Given the description of an element on the screen output the (x, y) to click on. 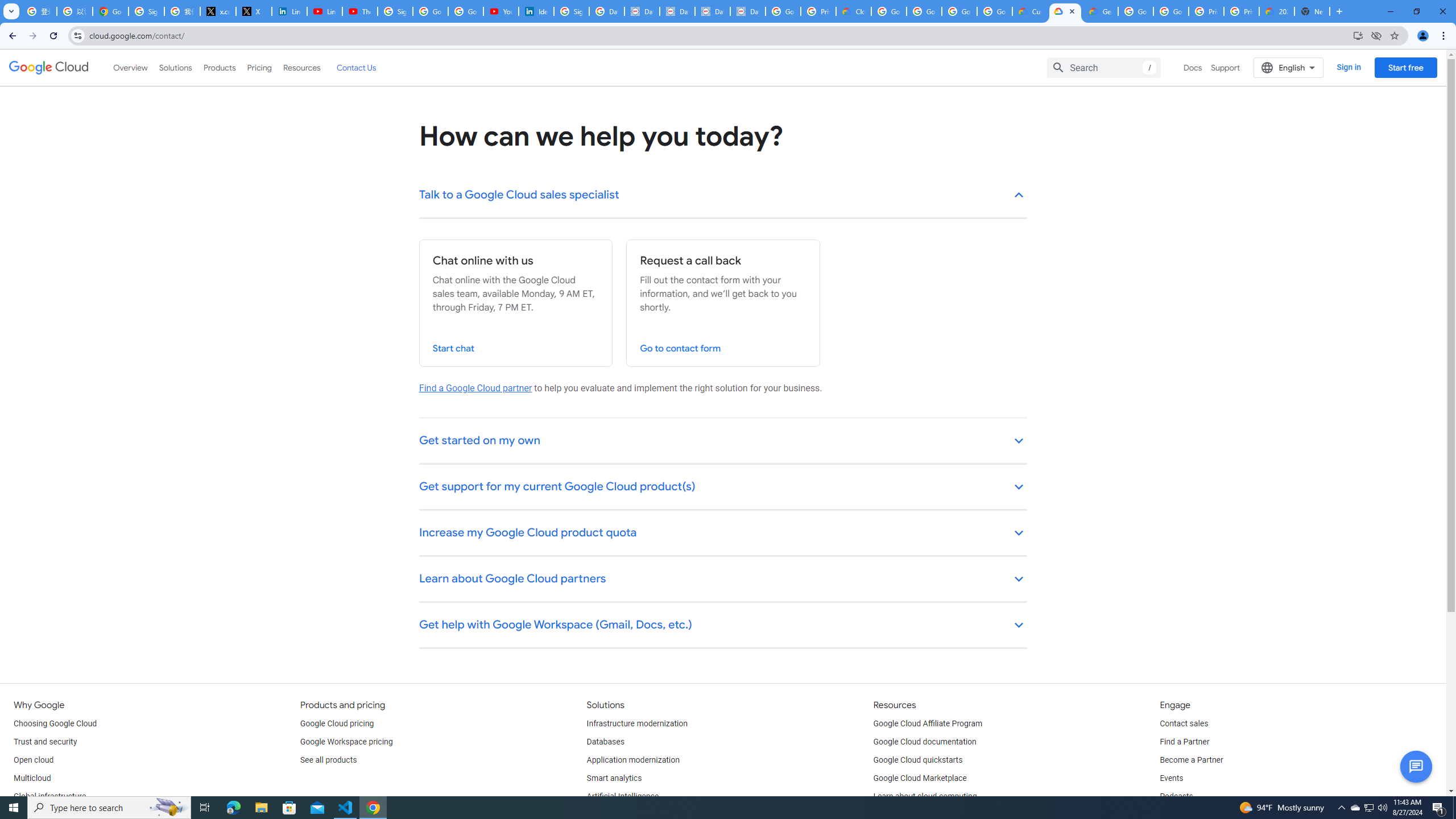
Cloud Data Processing Addendum | Google Cloud (853, 11)
Trust and security (45, 742)
Open cloud (33, 760)
Find a Google Cloud partner (475, 387)
Resources (301, 67)
Google Workspace pricing (346, 742)
